Given the description of an element on the screen output the (x, y) to click on. 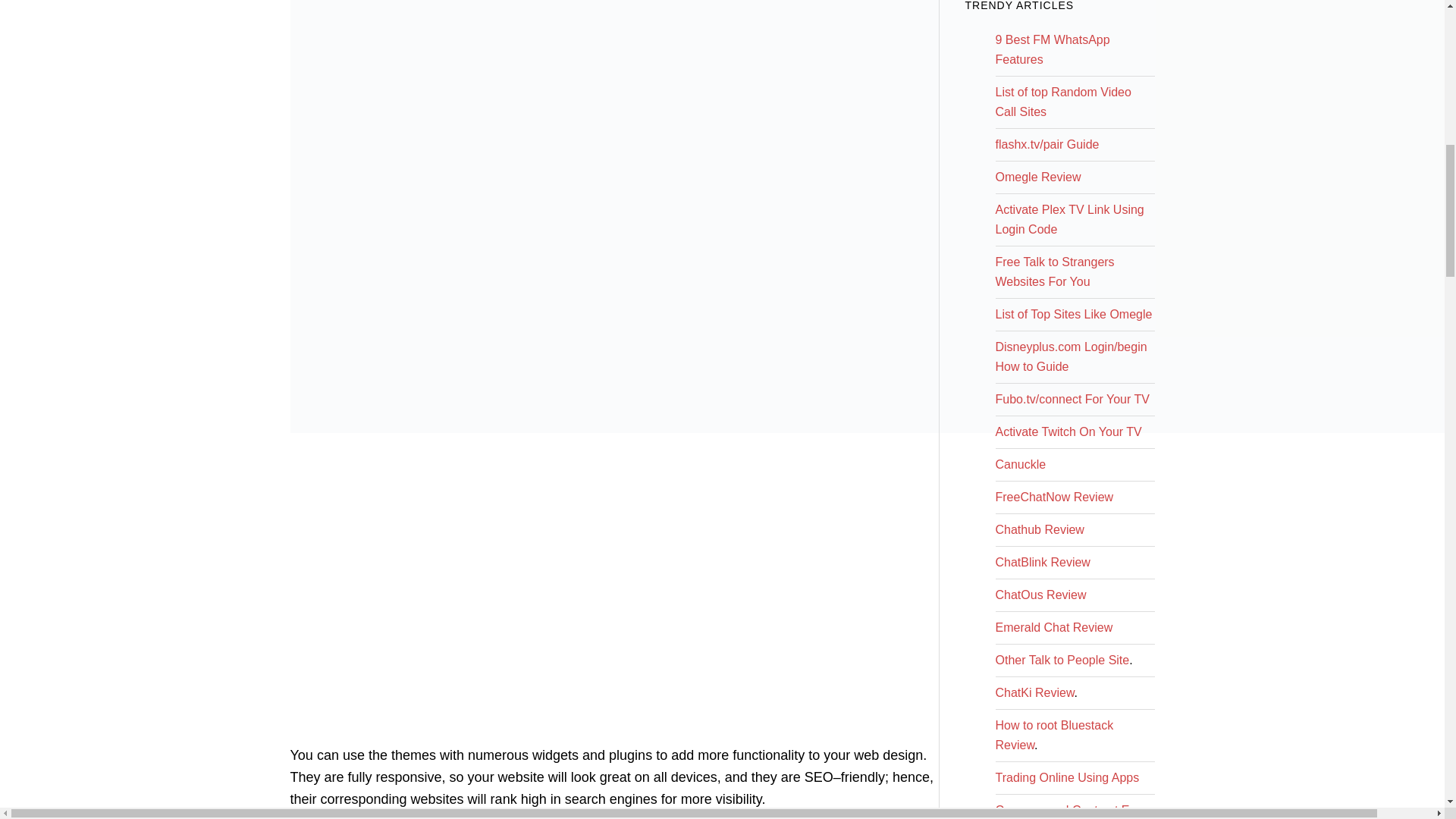
9 Best FM WhatsApp Features (1051, 49)
Omegle Review (1037, 176)
List of top Random Video Call Sites (1062, 101)
